Given the description of an element on the screen output the (x, y) to click on. 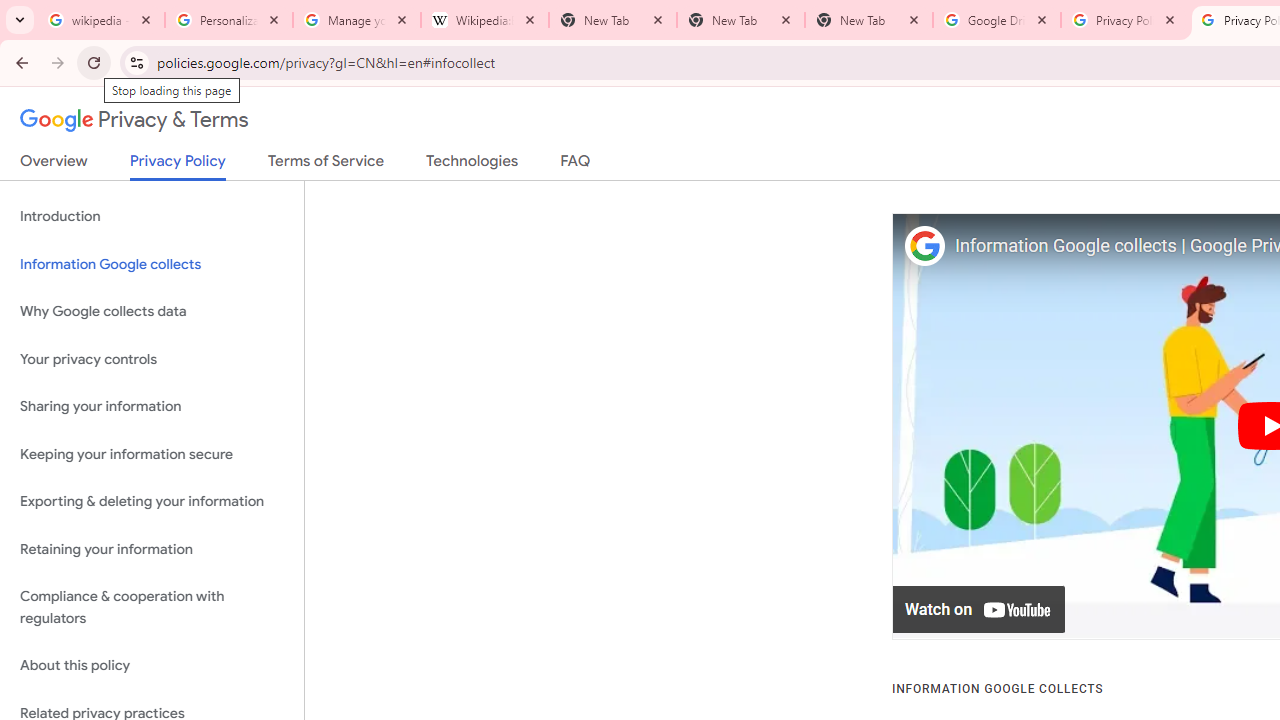
Wikipedia:Edit requests - Wikipedia (485, 20)
FAQ (575, 165)
About this policy (152, 666)
